Given the description of an element on the screen output the (x, y) to click on. 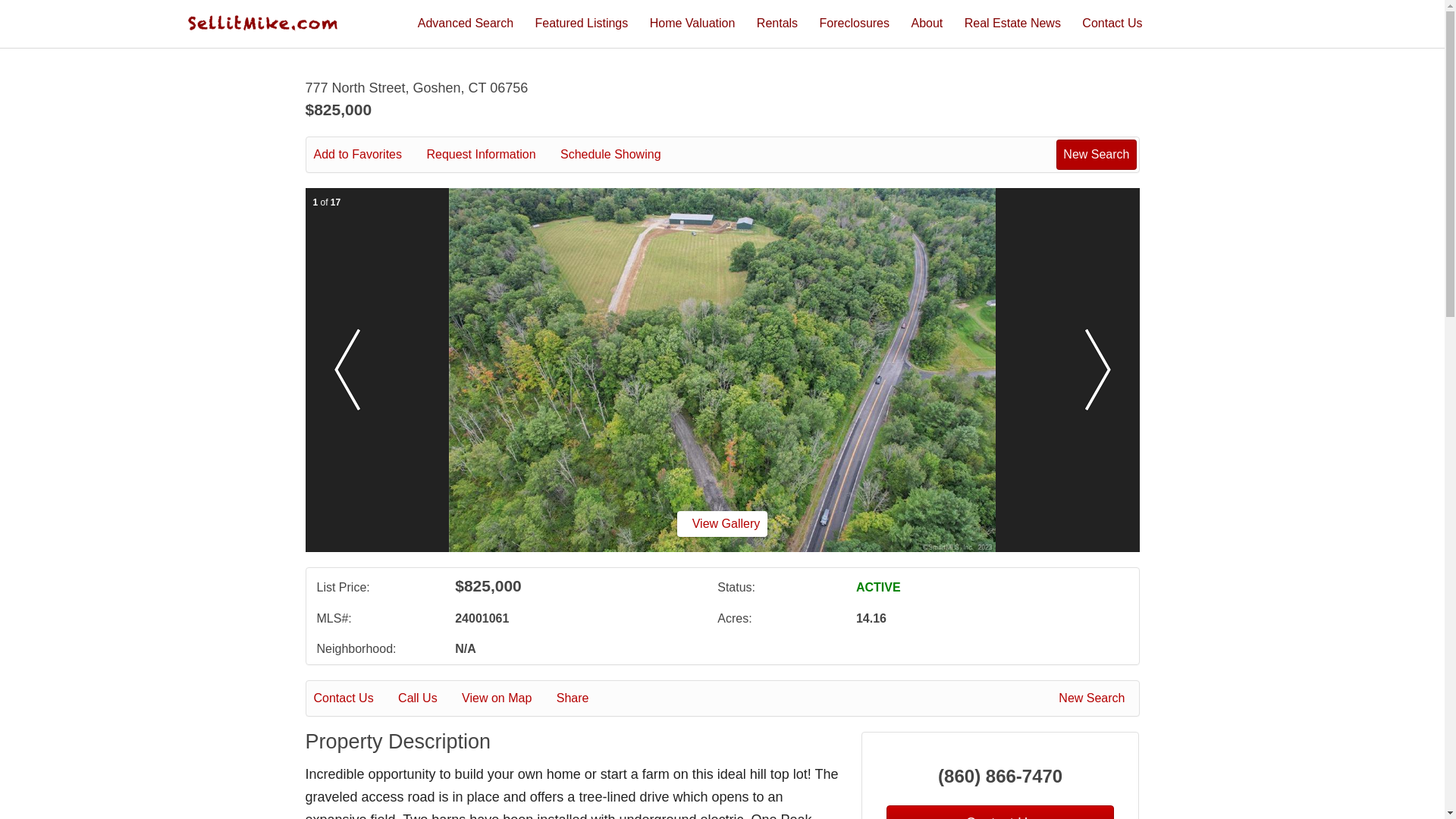
View Gallery (722, 524)
Schedule Showing (621, 154)
Advanced Search (465, 22)
Home Valuation (692, 22)
Contact Us (1111, 22)
Contact Us (354, 698)
New Search (1094, 698)
Rentals (777, 22)
Foreclosures (854, 22)
Share (583, 698)
Call Us (427, 698)
Featured Listings (581, 22)
About (926, 22)
Add to Favorites (368, 154)
New Search (1096, 154)
